Given the description of an element on the screen output the (x, y) to click on. 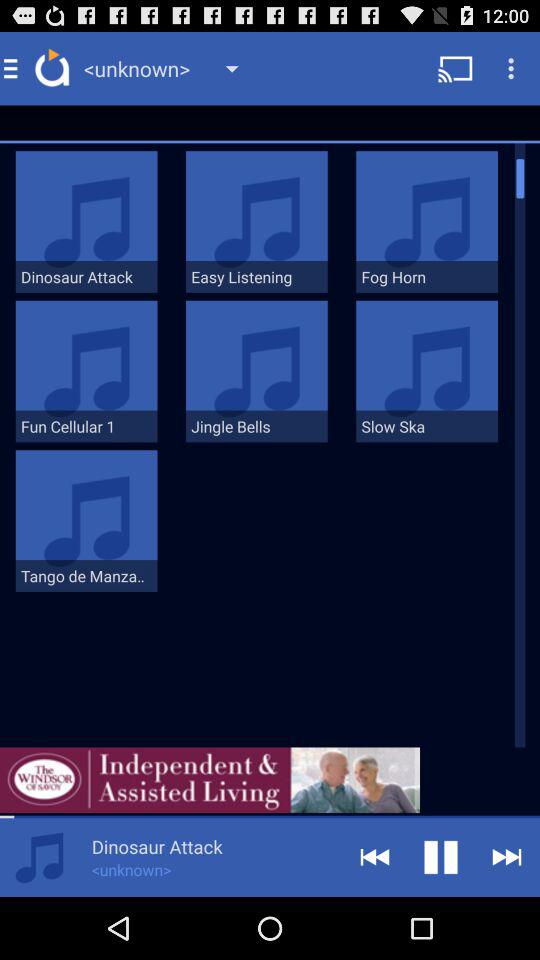
open advertisement (210, 780)
